Given the description of an element on the screen output the (x, y) to click on. 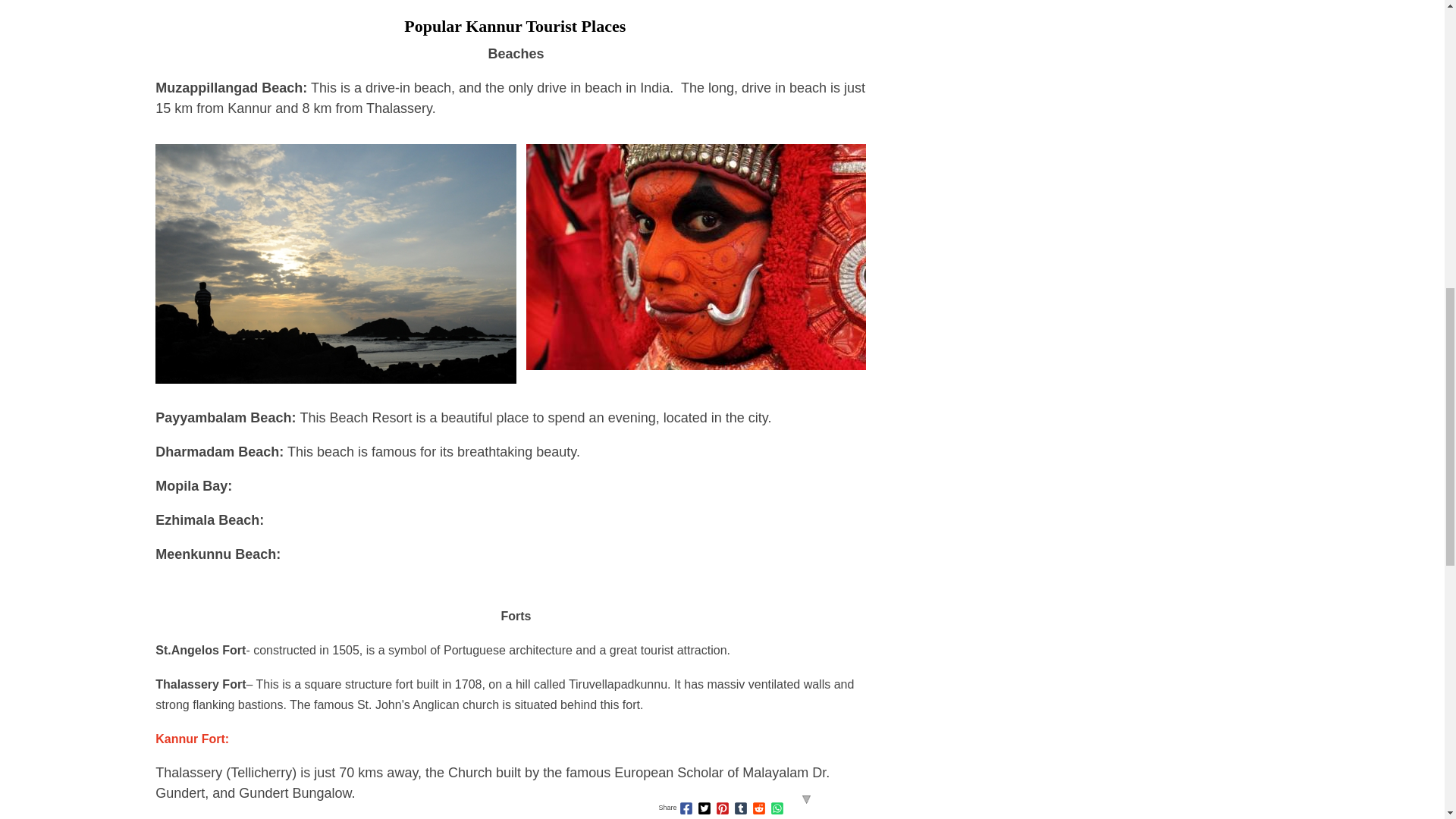
Kannur Beach (335, 264)
theyyam (695, 257)
